Given the description of an element on the screen output the (x, y) to click on. 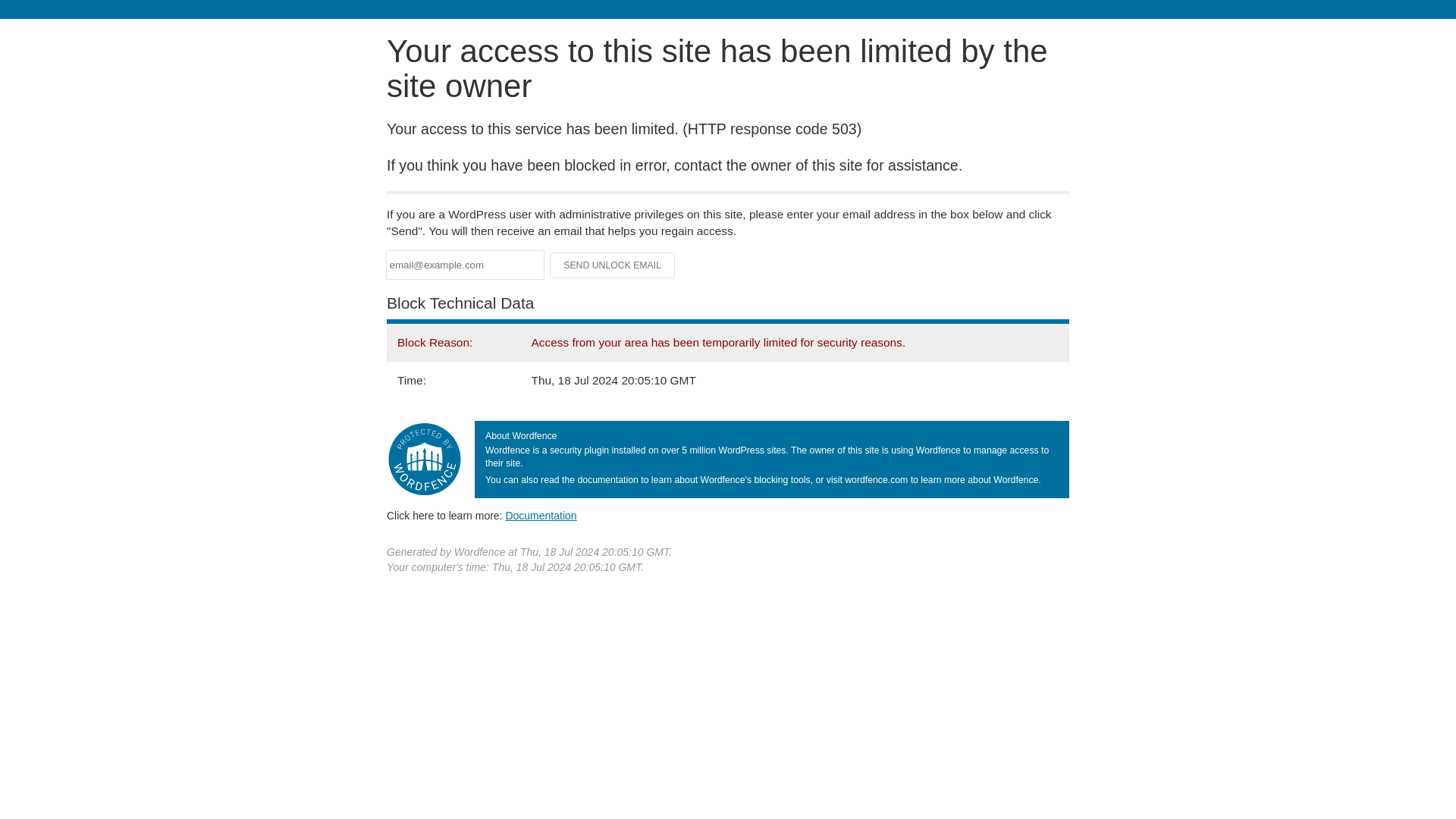
Send Unlock Email (612, 265)
Documentation (540, 515)
Send Unlock Email (612, 265)
